Given the description of an element on the screen output the (x, y) to click on. 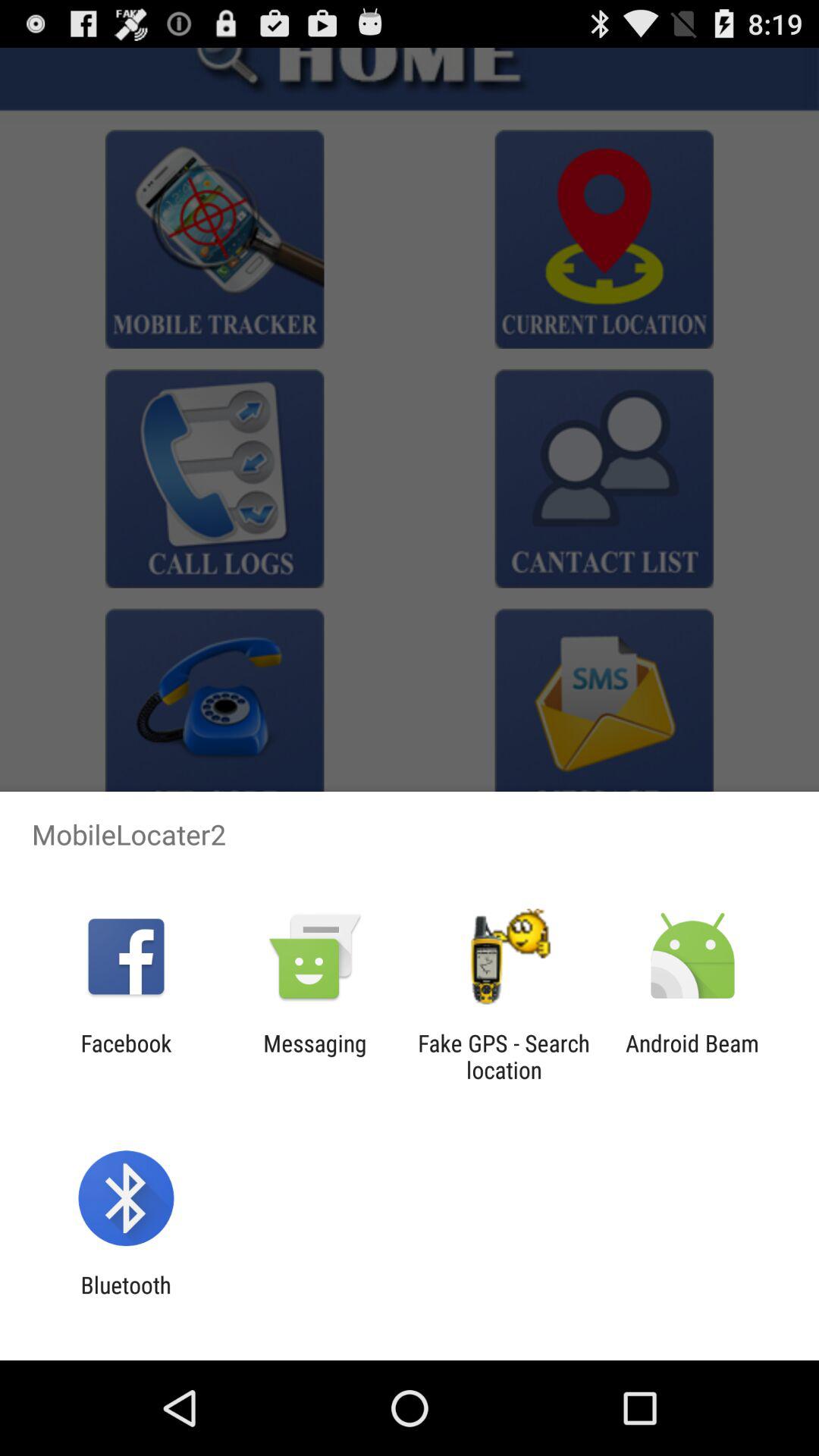
select item to the right of the facebook icon (314, 1056)
